Given the description of an element on the screen output the (x, y) to click on. 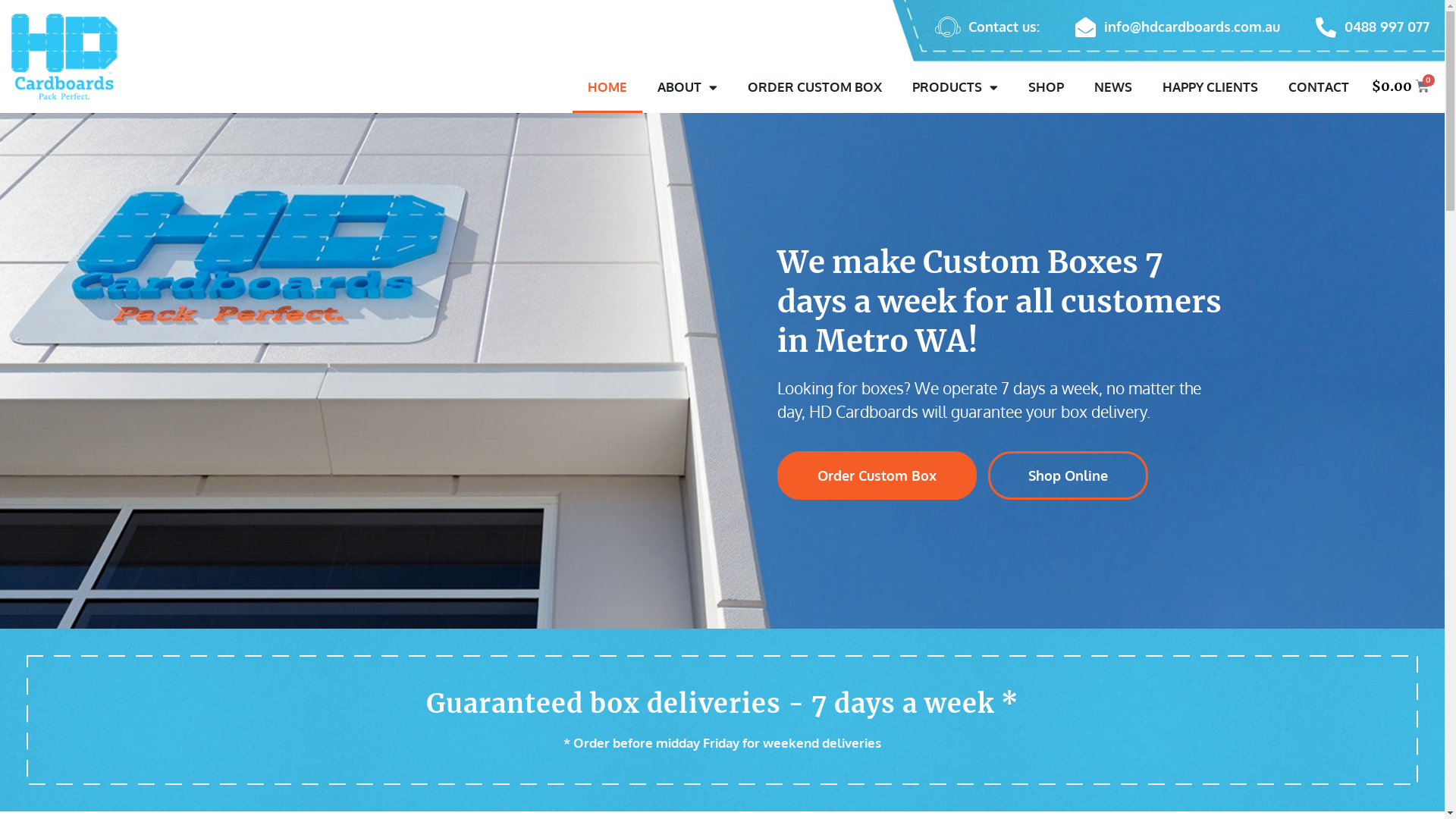
HAPPY CLIENTS Element type: text (1210, 86)
Shop Online Element type: text (1067, 475)
HOME Element type: text (607, 86)
PRODUCTS Element type: text (955, 86)
info@hdcardboards.com.au Element type: text (1175, 26)
ABOUT Element type: text (687, 86)
Logo Element type: hover (64, 53)
CONTACT Element type: text (1318, 86)
SHOP Element type: text (1046, 86)
ORDER CUSTOM BOX Element type: text (814, 86)
$0.00
0 Element type: text (1404, 84)
NEWS Element type: text (1113, 86)
Order Custom Box Element type: text (875, 475)
